Given the description of an element on the screen output the (x, y) to click on. 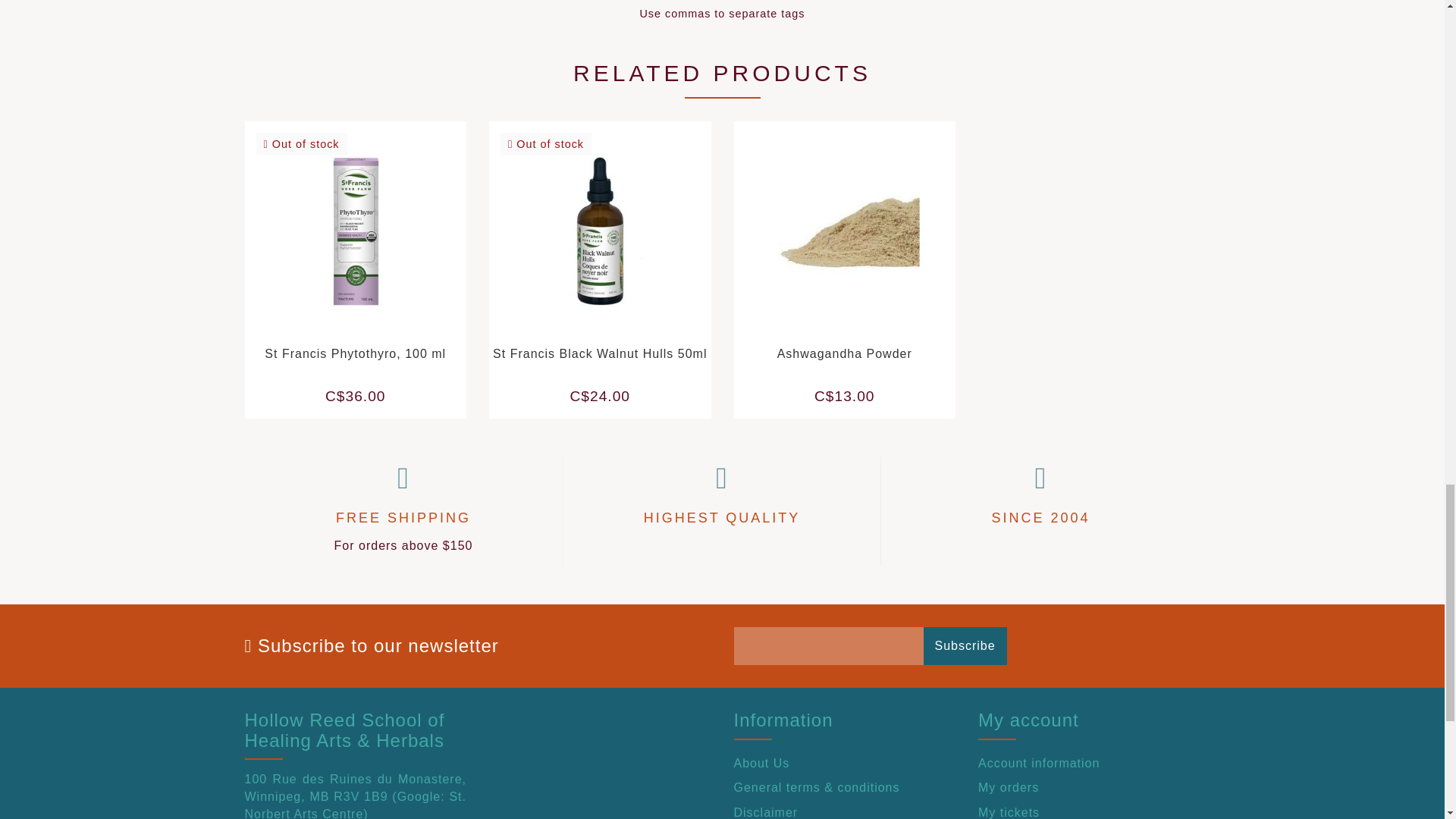
St Francis Black Walnut Hulls 50ml (599, 353)
About Us (844, 763)
Subscribe (965, 646)
St Francis Phytothyro, 100 ml (354, 353)
Ashwagandha Powder (844, 353)
